Given the description of an element on the screen output the (x, y) to click on. 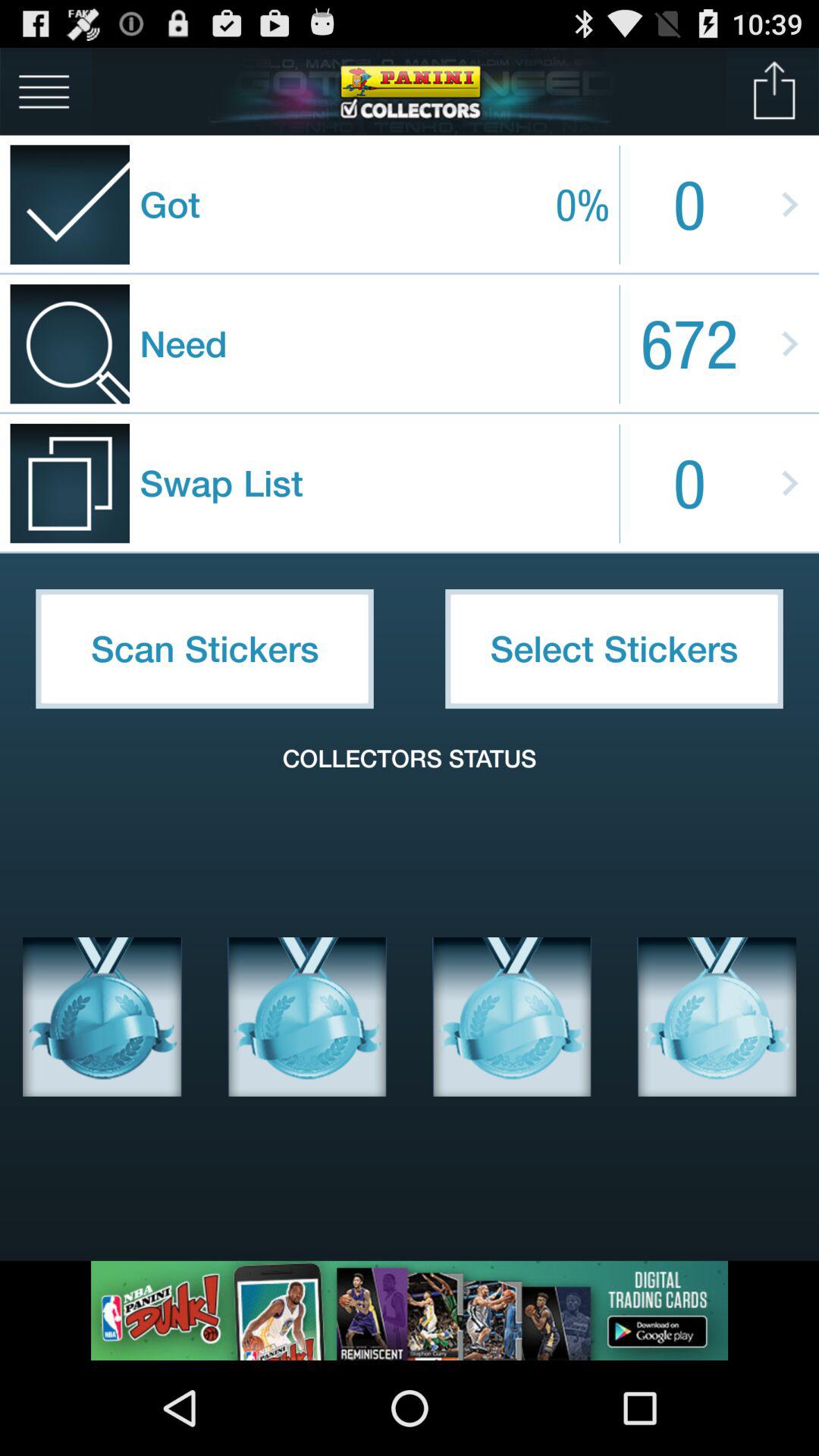
choose the icon to the left of the got item (43, 91)
